Given the description of an element on the screen output the (x, y) to click on. 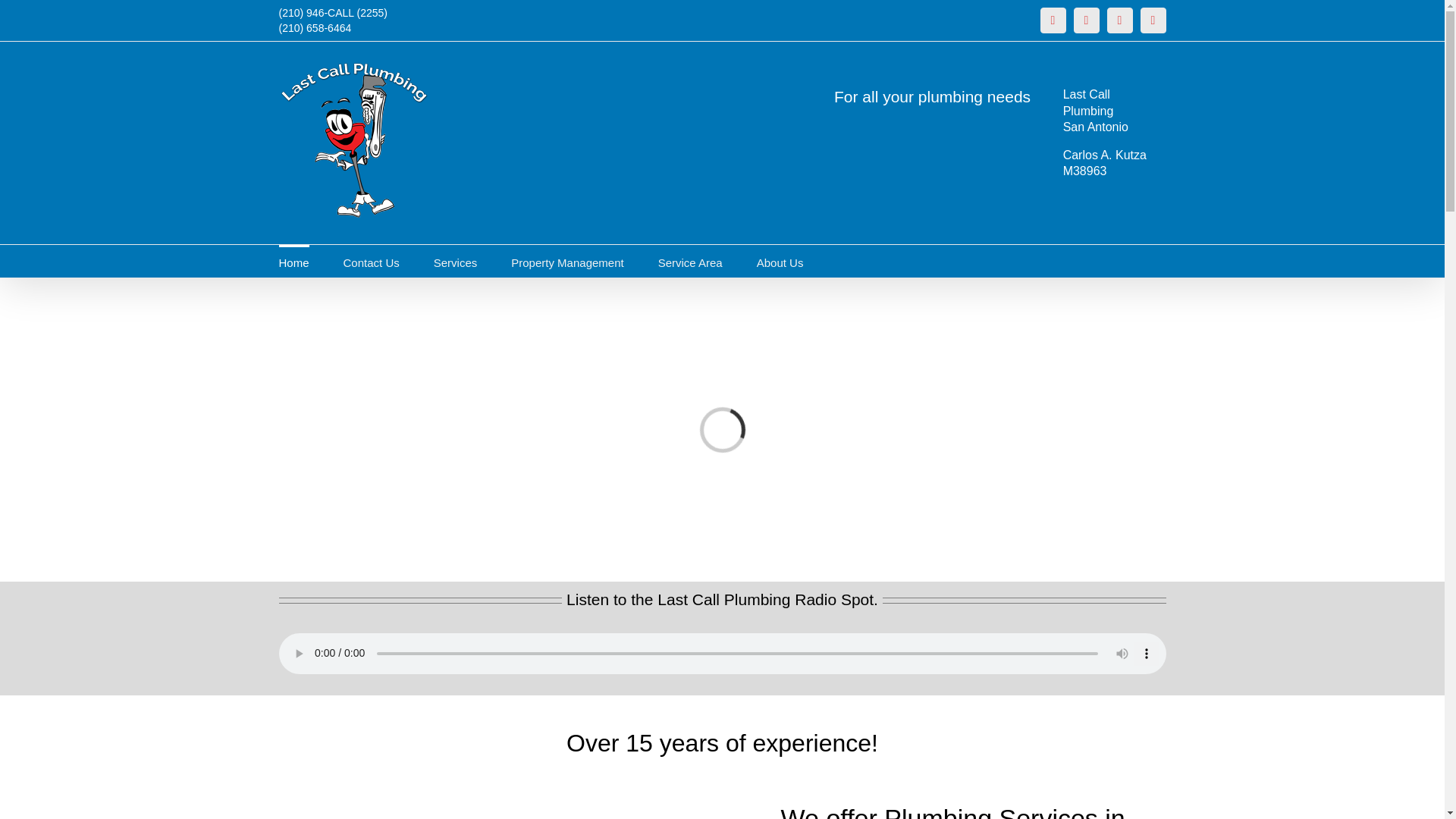
Property Management (567, 260)
Service Area (690, 260)
Home (293, 260)
Facebook (1086, 20)
Yelp (1153, 20)
Email (1053, 20)
Contact Us (370, 260)
About Us (780, 260)
X (1119, 20)
Services (455, 260)
